Given the description of an element on the screen output the (x, y) to click on. 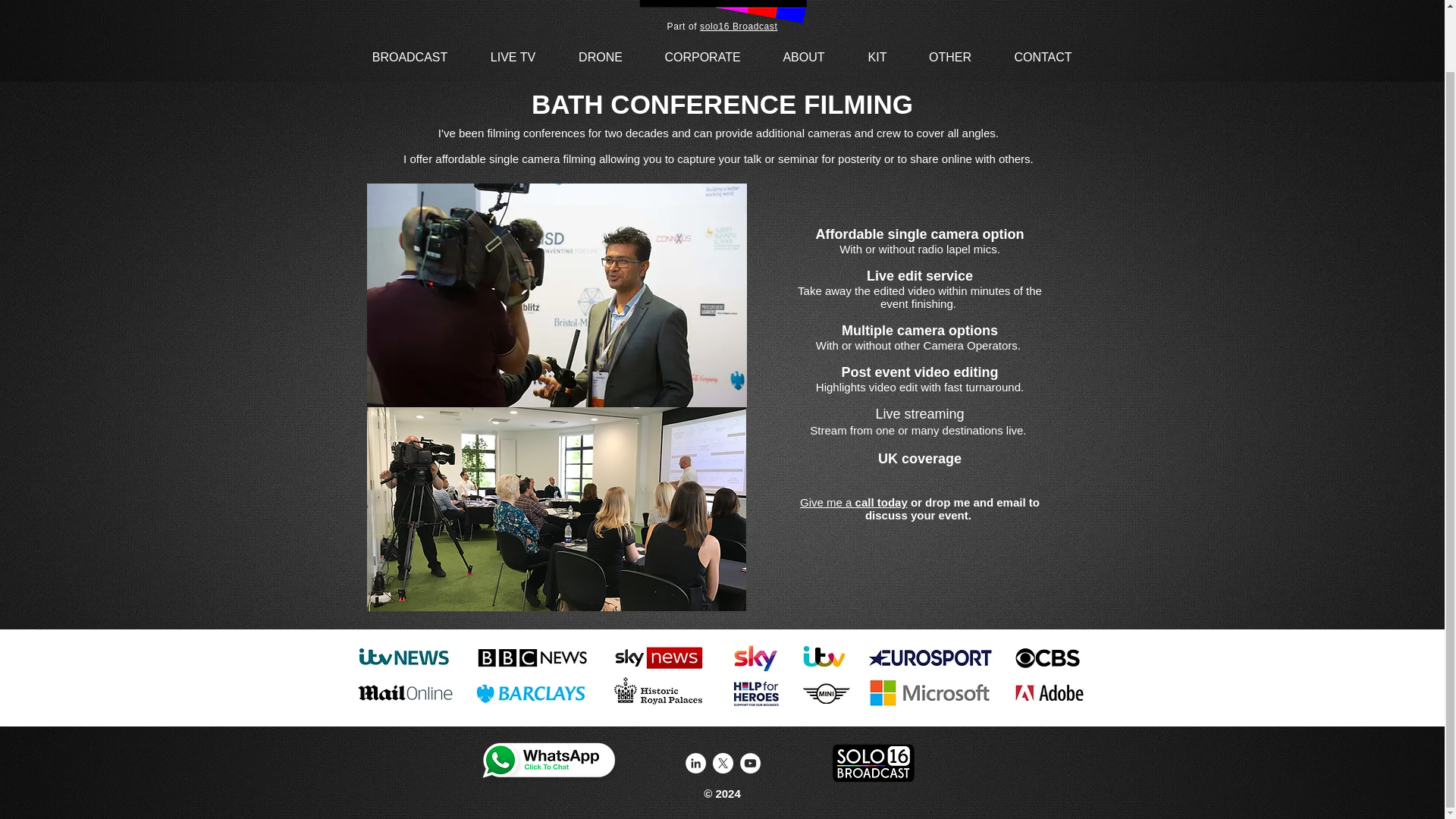
ABOUT (804, 57)
CONTACT (1042, 57)
Bath conference filming (556, 295)
Live streaming (919, 413)
London Live streaming (400, 716)
Event filming Bath (555, 505)
DRONE (599, 57)
CORPORATE (703, 57)
solo16 Broadcast (738, 26)
LIVE TV (512, 57)
KIT (876, 57)
BROADCAST (409, 57)
